Given the description of an element on the screen output the (x, y) to click on. 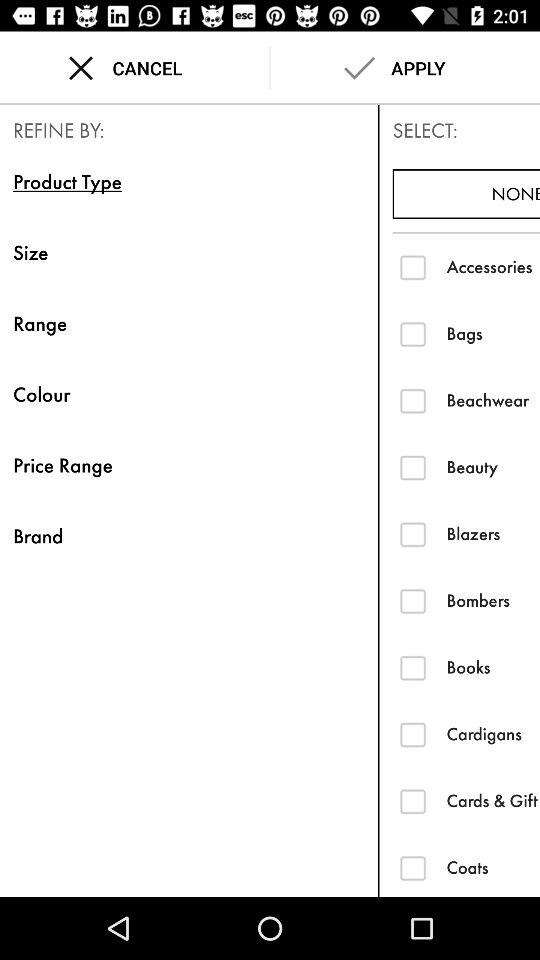
open the blazers item (493, 533)
